Given the description of an element on the screen output the (x, y) to click on. 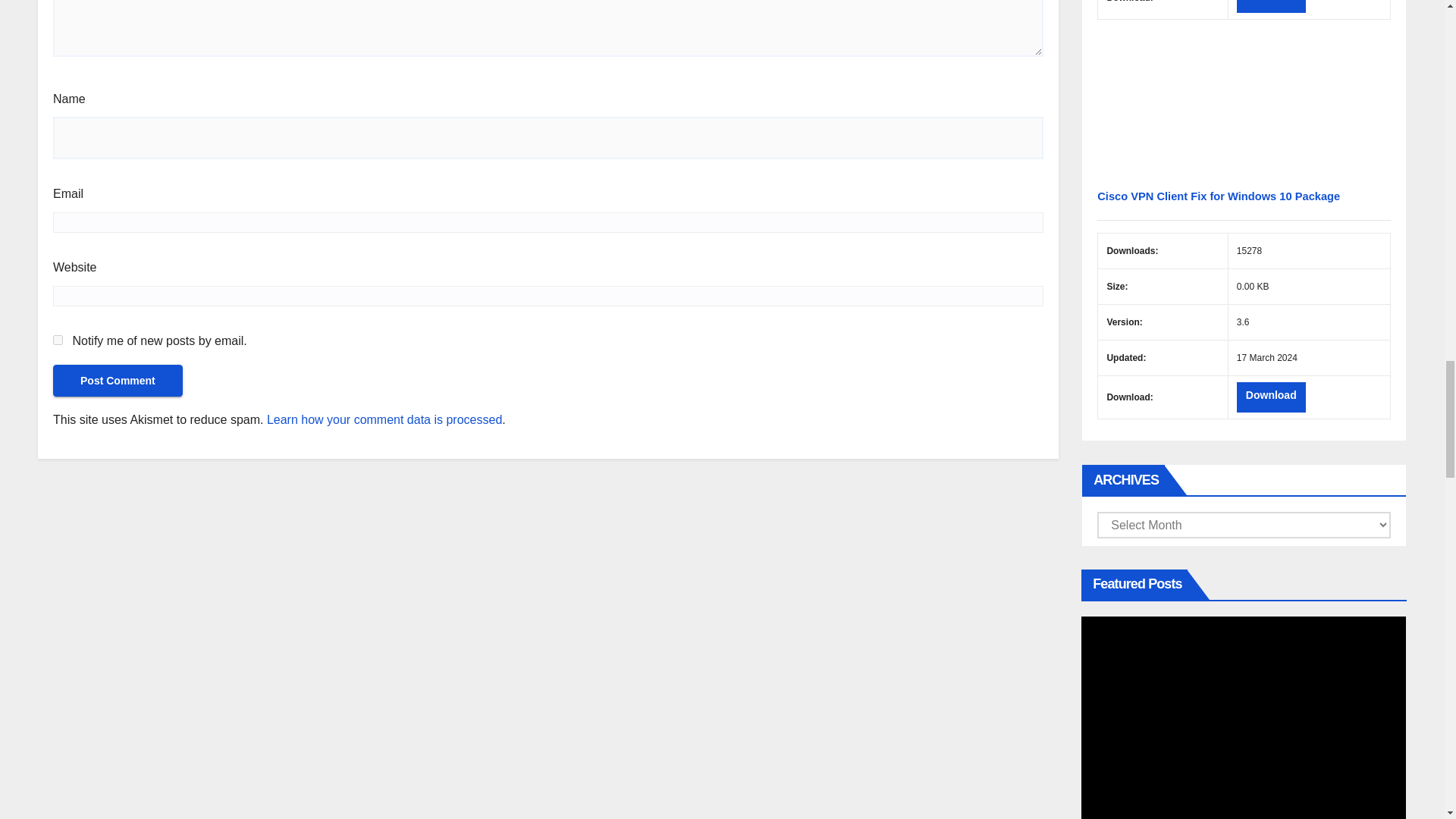
subscribe (57, 339)
Post Comment (117, 380)
